Given the description of an element on the screen output the (x, y) to click on. 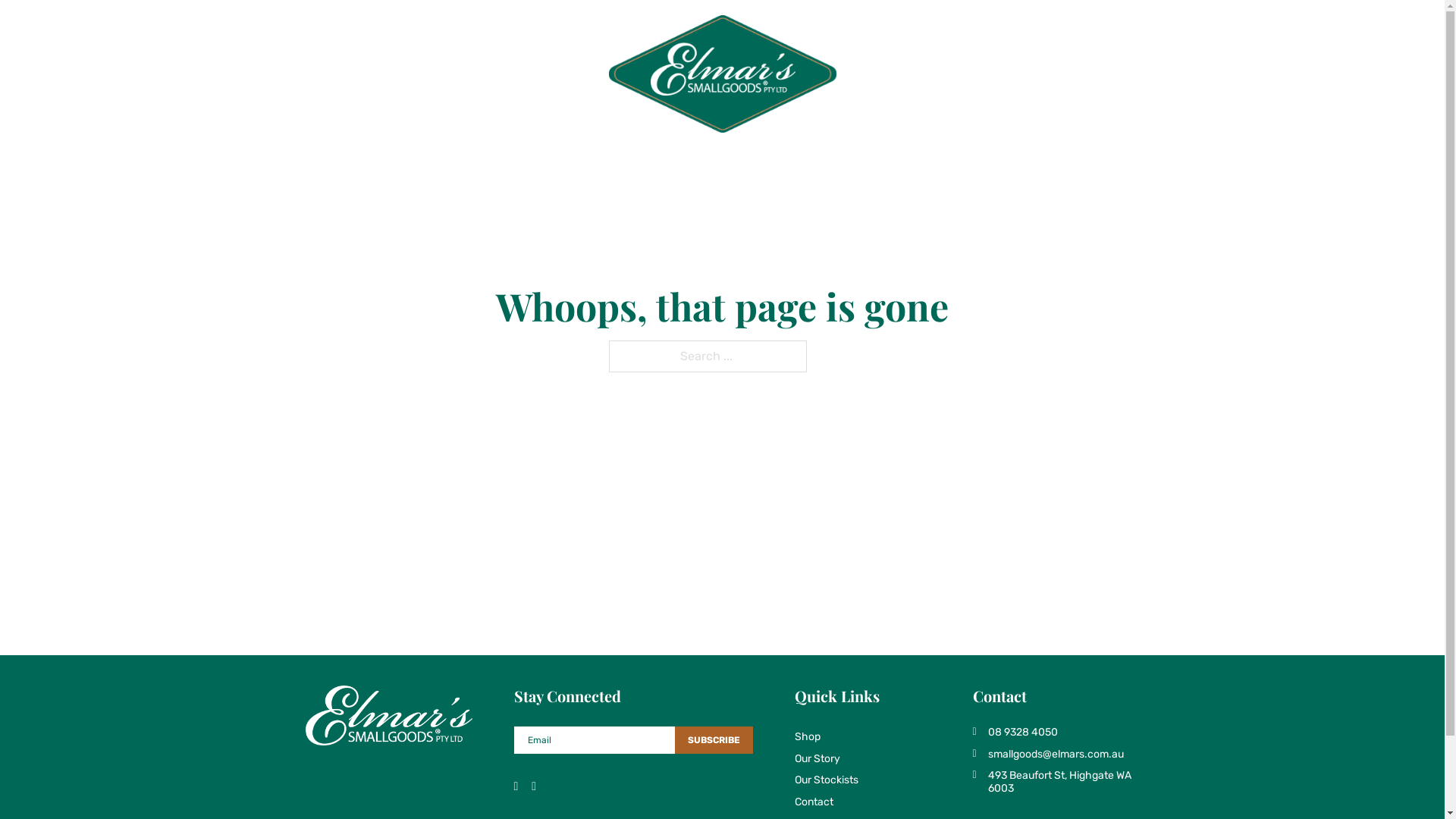
Our Stockists Element type: text (468, 73)
Shop Element type: text (318, 73)
smallgoods@elmars.com.au Element type: text (1055, 754)
Our Story Element type: text (382, 73)
08 9328 4050 Element type: text (1055, 732)
493 Beaufort St, Highgate WA 6003 Element type: text (1055, 781)
Our Stockists Element type: text (826, 780)
Contact Element type: text (1087, 73)
Dished Up Element type: text (1013, 73)
Our Story Element type: text (826, 759)
Contact Element type: text (826, 802)
Subscribe Element type: text (713, 739)
Shop Element type: text (826, 737)
